Given the description of an element on the screen output the (x, y) to click on. 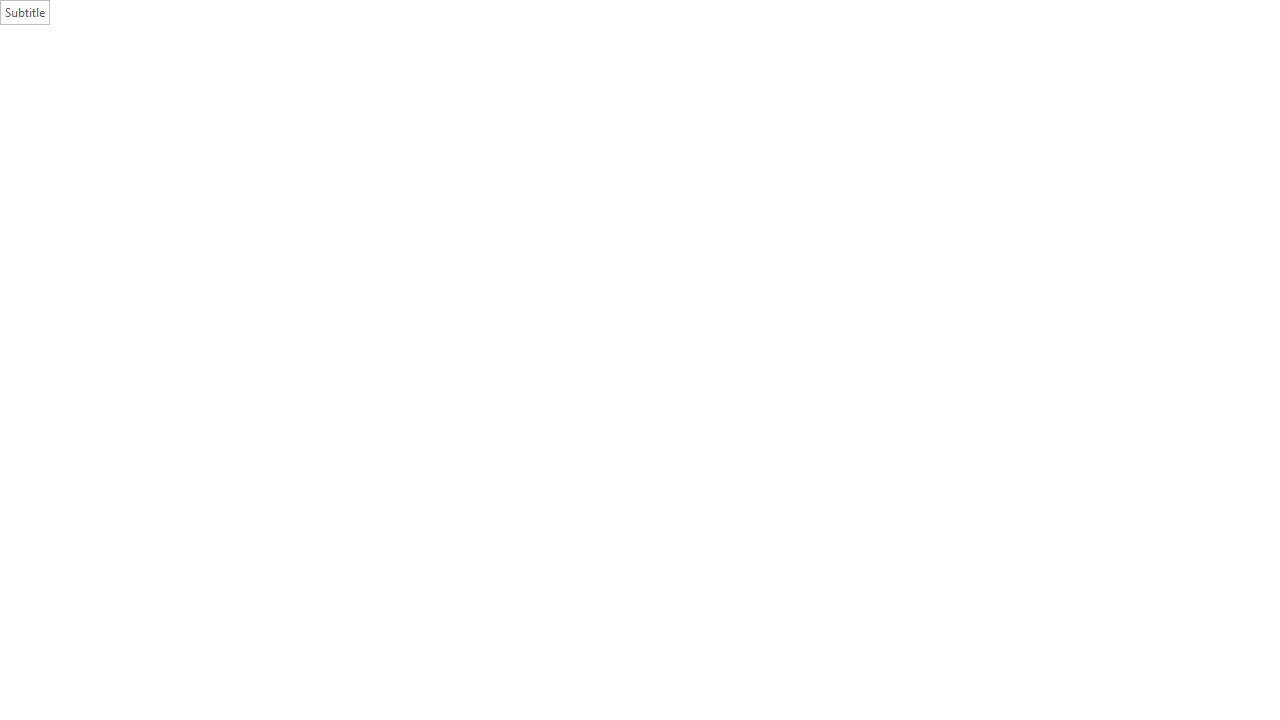
Asian Layout (712, 87)
Text Effects and Typography (357, 119)
Office Clipboard... (156, 151)
Font... (500, 151)
Subscript (294, 119)
Multilevel List (613, 87)
Font Color Red (426, 119)
Can't Repeat (204, 15)
Decrease Indent (650, 87)
Character Shading (465, 119)
